Given the description of an element on the screen output the (x, y) to click on. 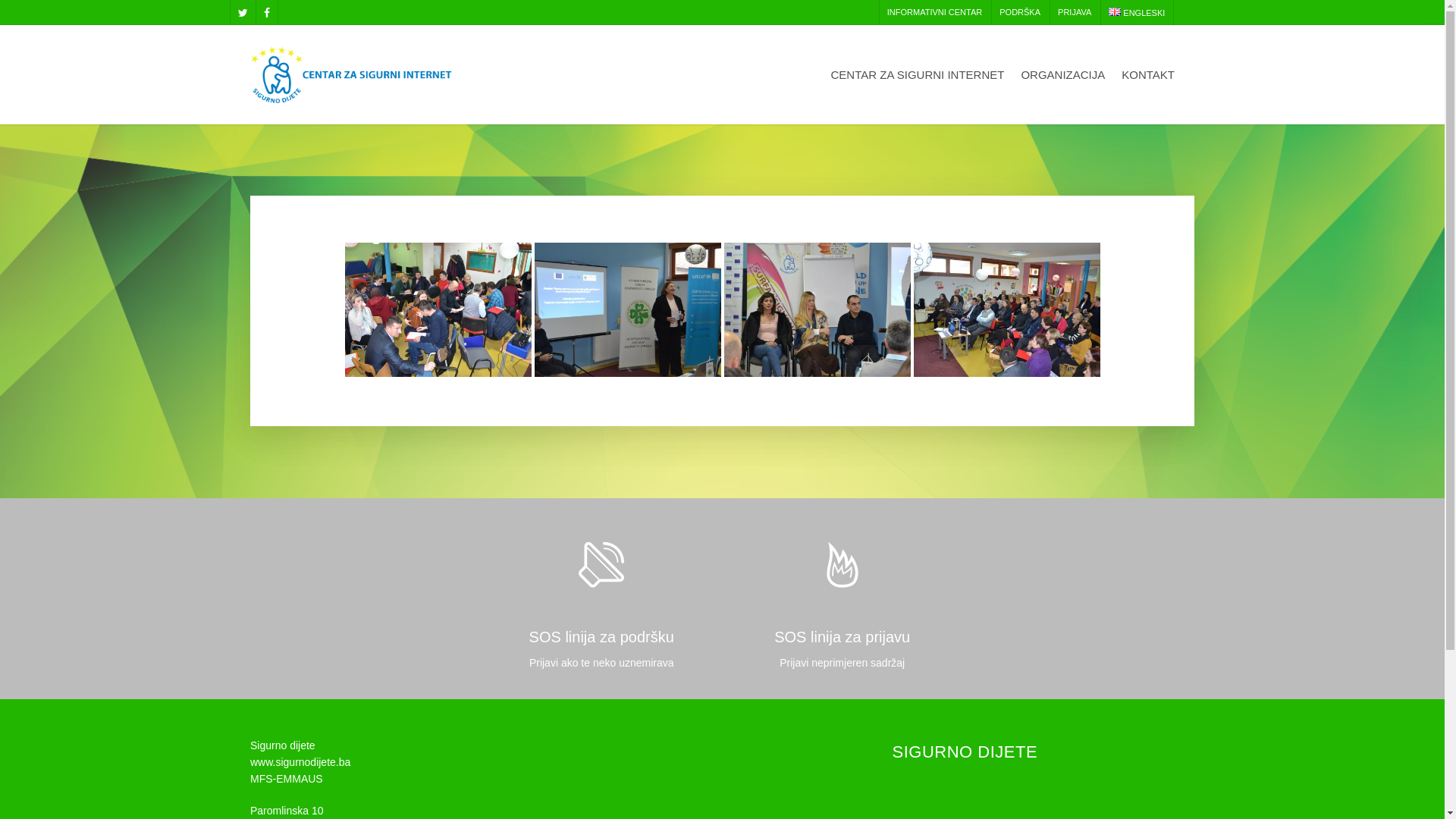
www.sigurnodijete.ba Element type: text (300, 762)
PRIJAVA Element type: text (1073, 12)
ENGLESKI Element type: text (1136, 12)
INFORMATIVNI CENTAR Element type: text (933, 12)
SIGURNO DIJETE Element type: text (965, 751)
CENTAR ZA SIGURNI INTERNET Element type: text (917, 85)
KONTAKT Element type: text (1147, 85)
DSC 0101 1024x683 Element type: hover (438, 309)
DSC 0082 1024x683 Element type: hover (817, 309)
DSC 0070 1024x683 (1) Element type: hover (627, 309)
DSC 0078 1024x683 Element type: hover (1006, 309)
ORGANIZACIJA Element type: text (1062, 85)
